Given the description of an element on the screen output the (x, y) to click on. 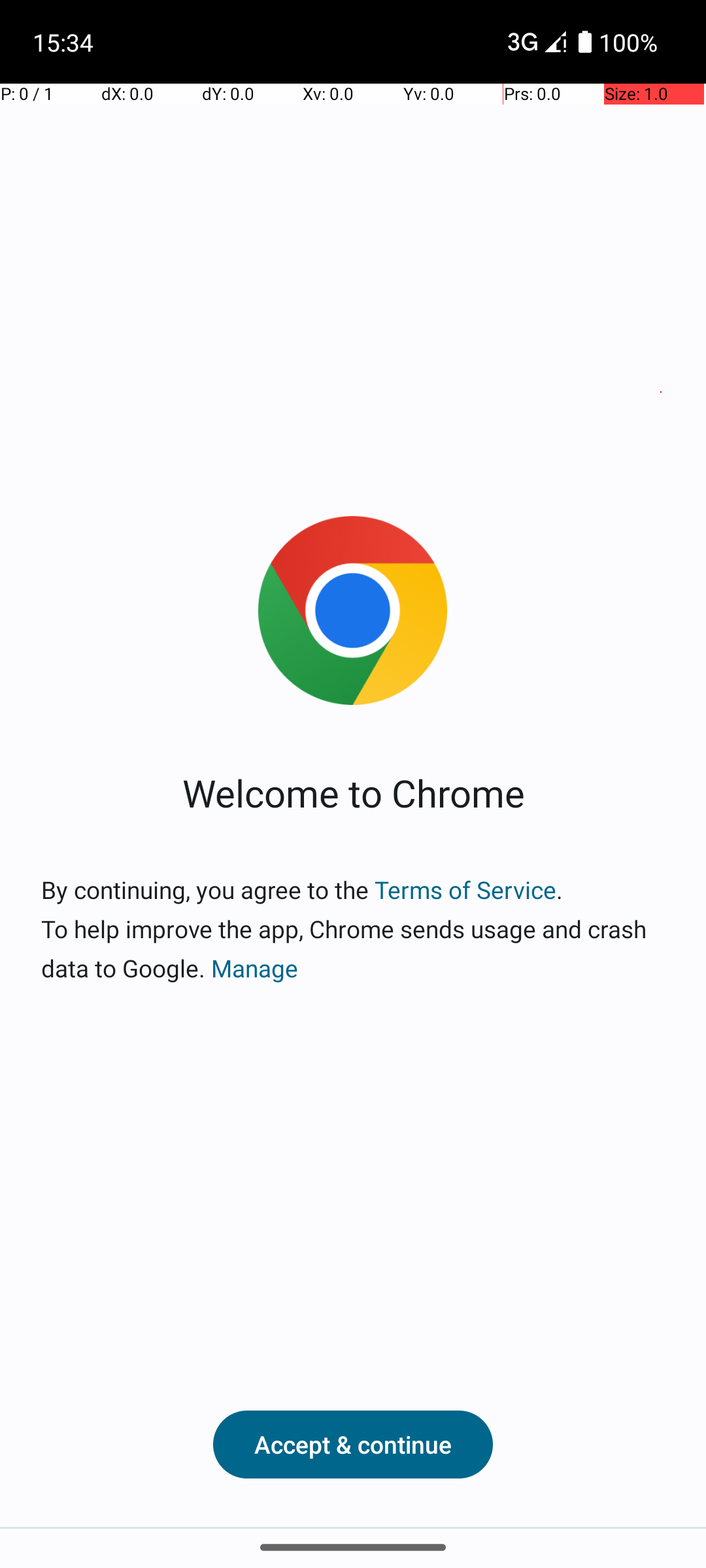
Accept & continue Element type: android.widget.Button (352, 1444)
Welcome to Chrome Element type: android.widget.TextView (352, 792)
By continuing, you agree to the Terms of Service.
To help improve the app, Chrome sends usage and crash data to Google. Manage Element type: android.widget.TextView (352, 928)
